Given the description of an element on the screen output the (x, y) to click on. 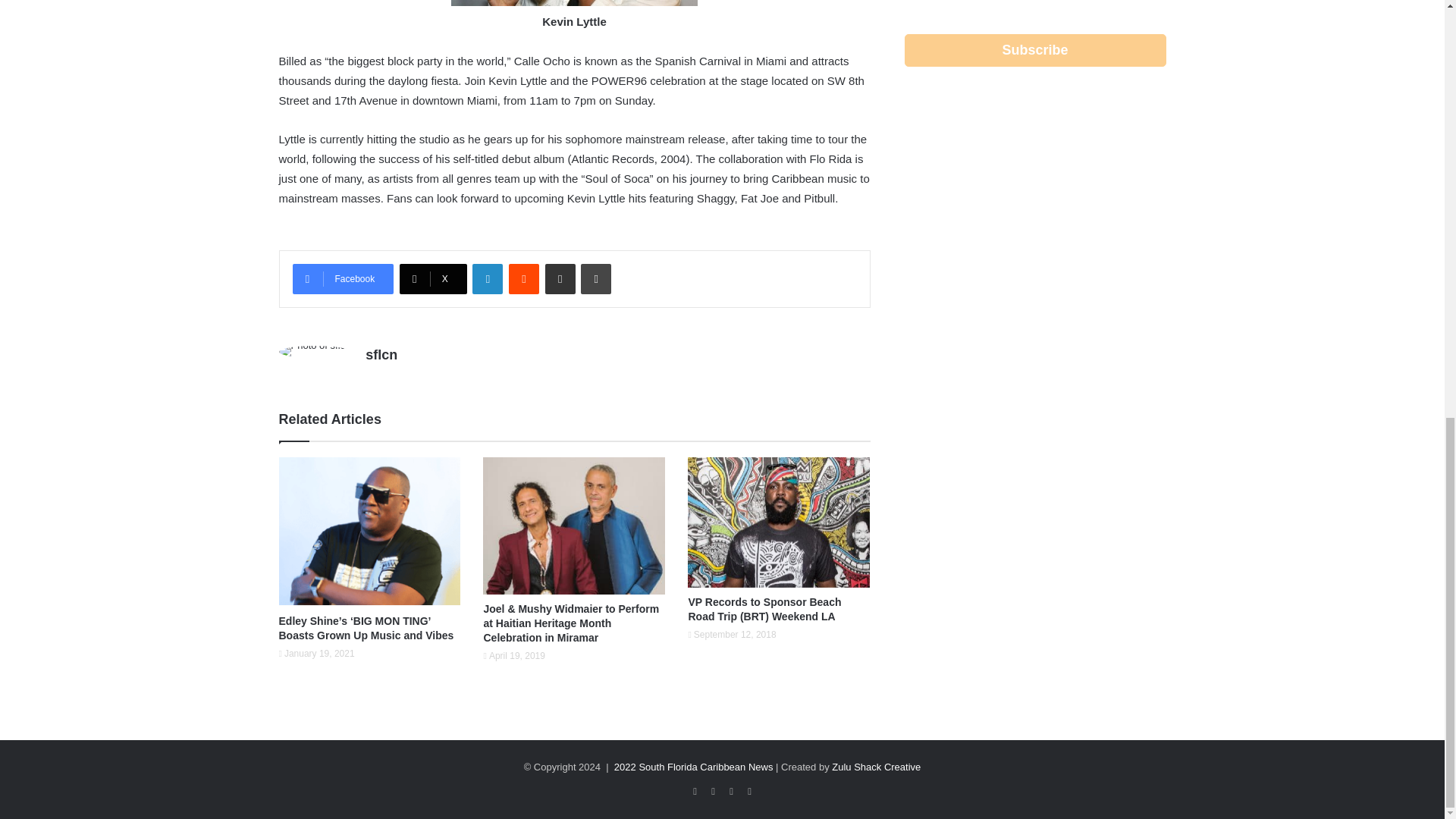
3rd party ad content (1034, 217)
Reddit (523, 278)
LinkedIn (486, 278)
X (432, 278)
Facebook (343, 278)
Print (595, 278)
Share via Email (559, 278)
Facebook (343, 278)
3rd party ad content (1034, 444)
Reddit (523, 278)
Share via Email (559, 278)
LinkedIn (486, 278)
X (432, 278)
